Given the description of an element on the screen output the (x, y) to click on. 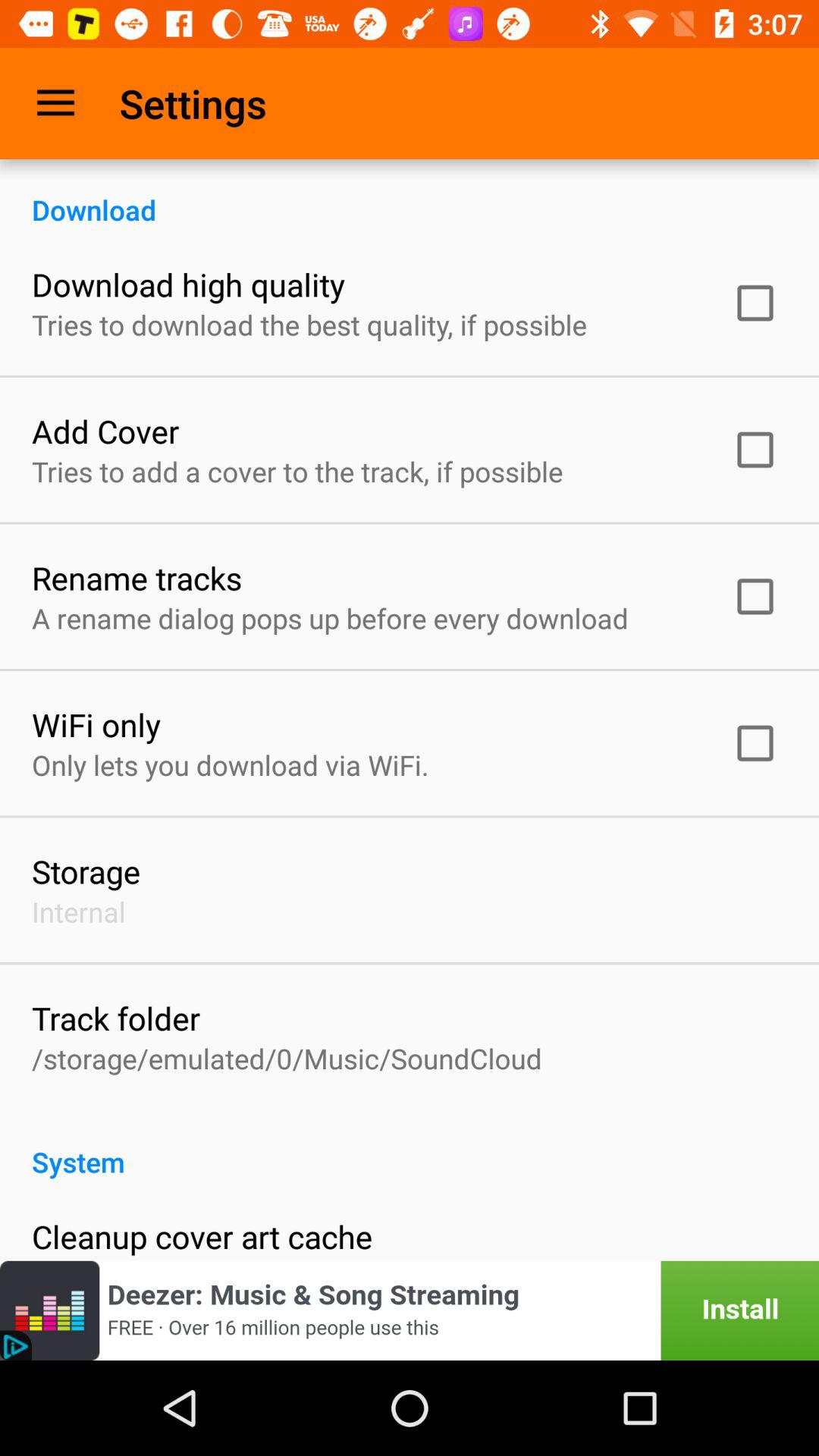
scroll until the only lets you item (229, 764)
